Given the description of an element on the screen output the (x, y) to click on. 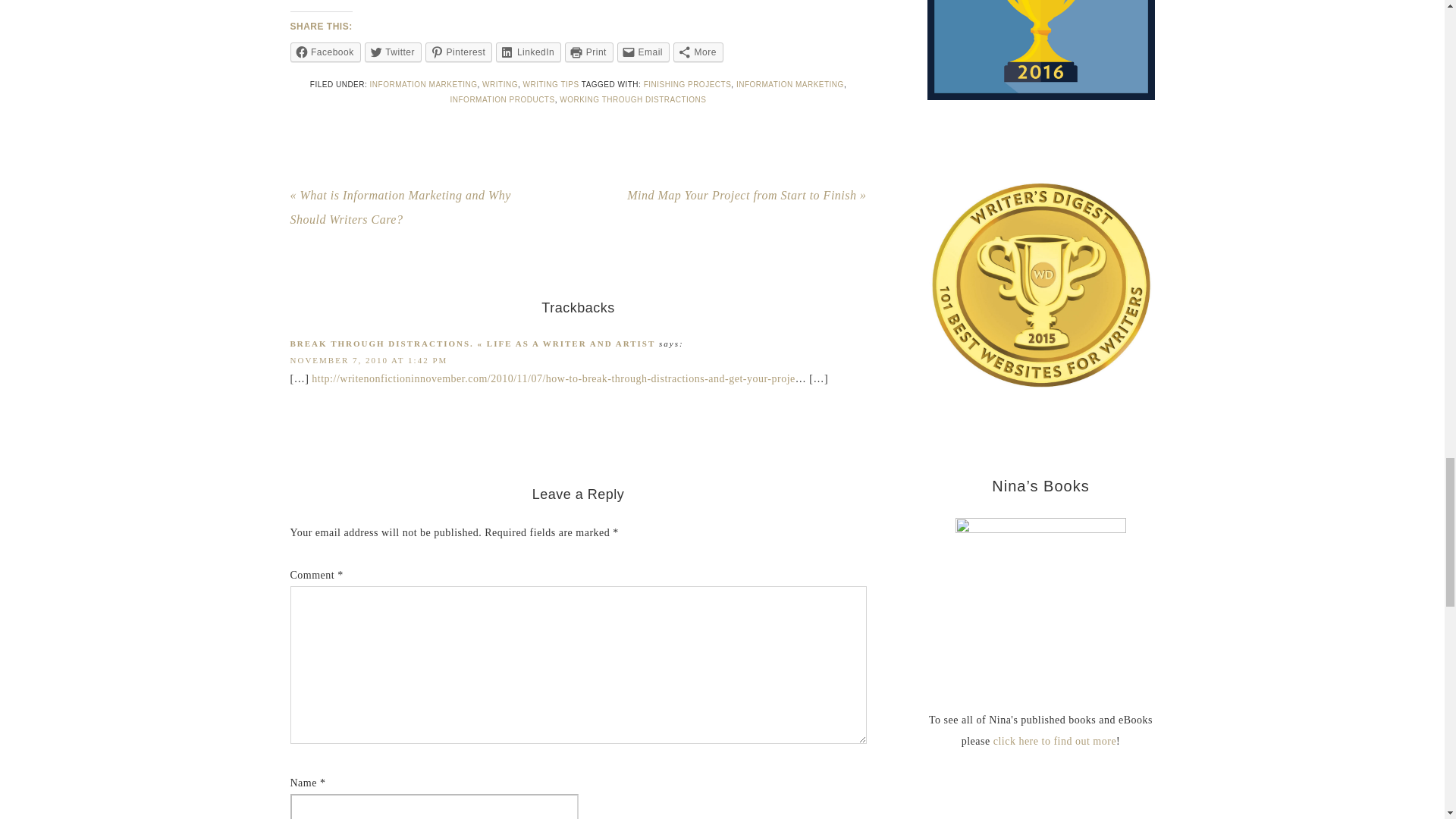
Facebook (324, 52)
Click to share on LinkedIn (528, 52)
Click to share on Twitter (393, 52)
Click to share on Facebook (324, 52)
Click to share on Pinterest (458, 52)
